Given the description of an element on the screen output the (x, y) to click on. 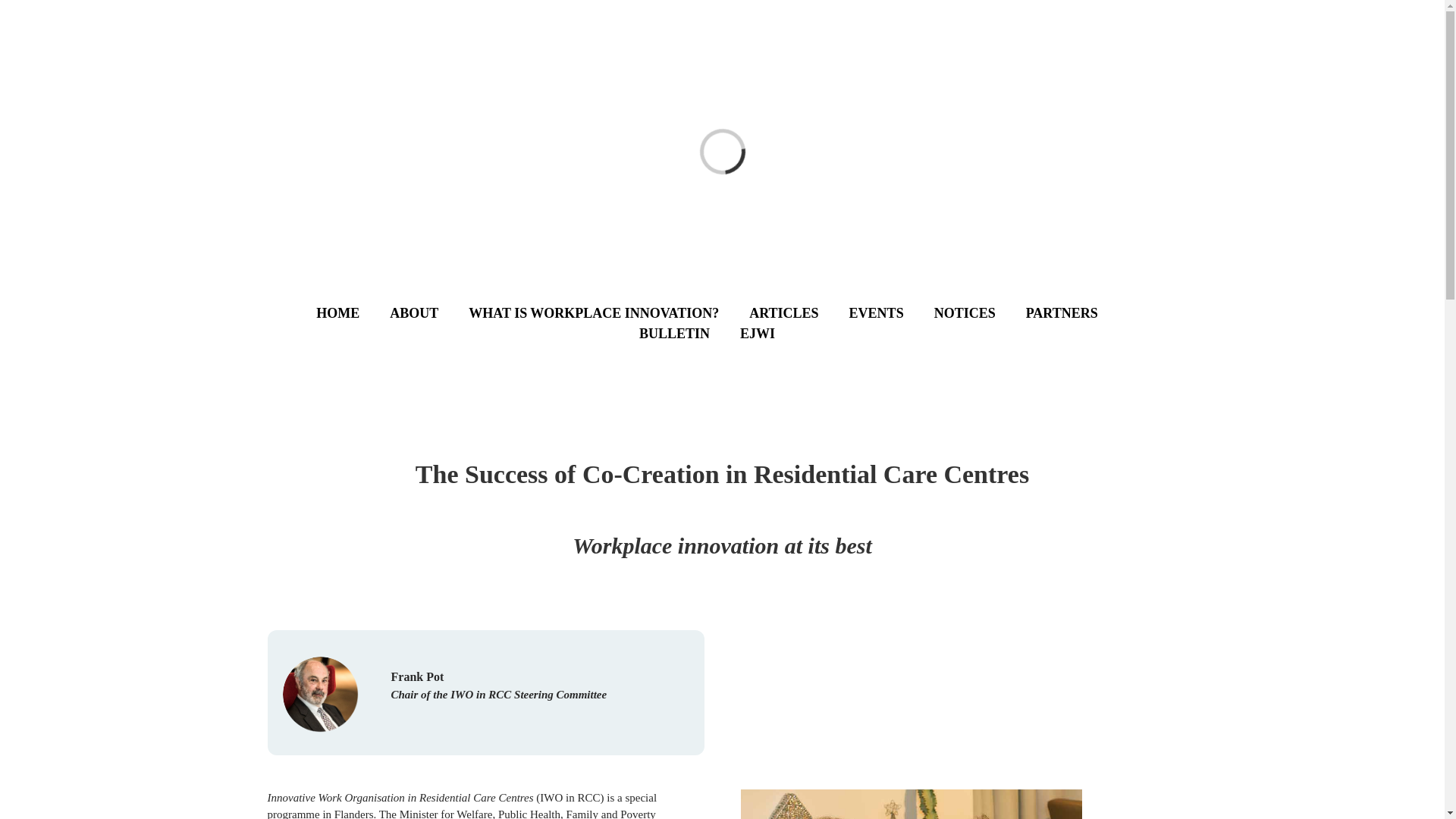
ARTICLES (798, 313)
PARTNERS (1077, 313)
Frank-Pot (320, 694)
HOME (352, 313)
Residential Care Centres (910, 804)
NOTICES (980, 313)
ABOUT (429, 313)
BULLETIN (689, 333)
WHAT IS WORKPLACE INNOVATION? (608, 313)
EVENTS (891, 313)
EJWI (772, 333)
